Given the description of an element on the screen output the (x, y) to click on. 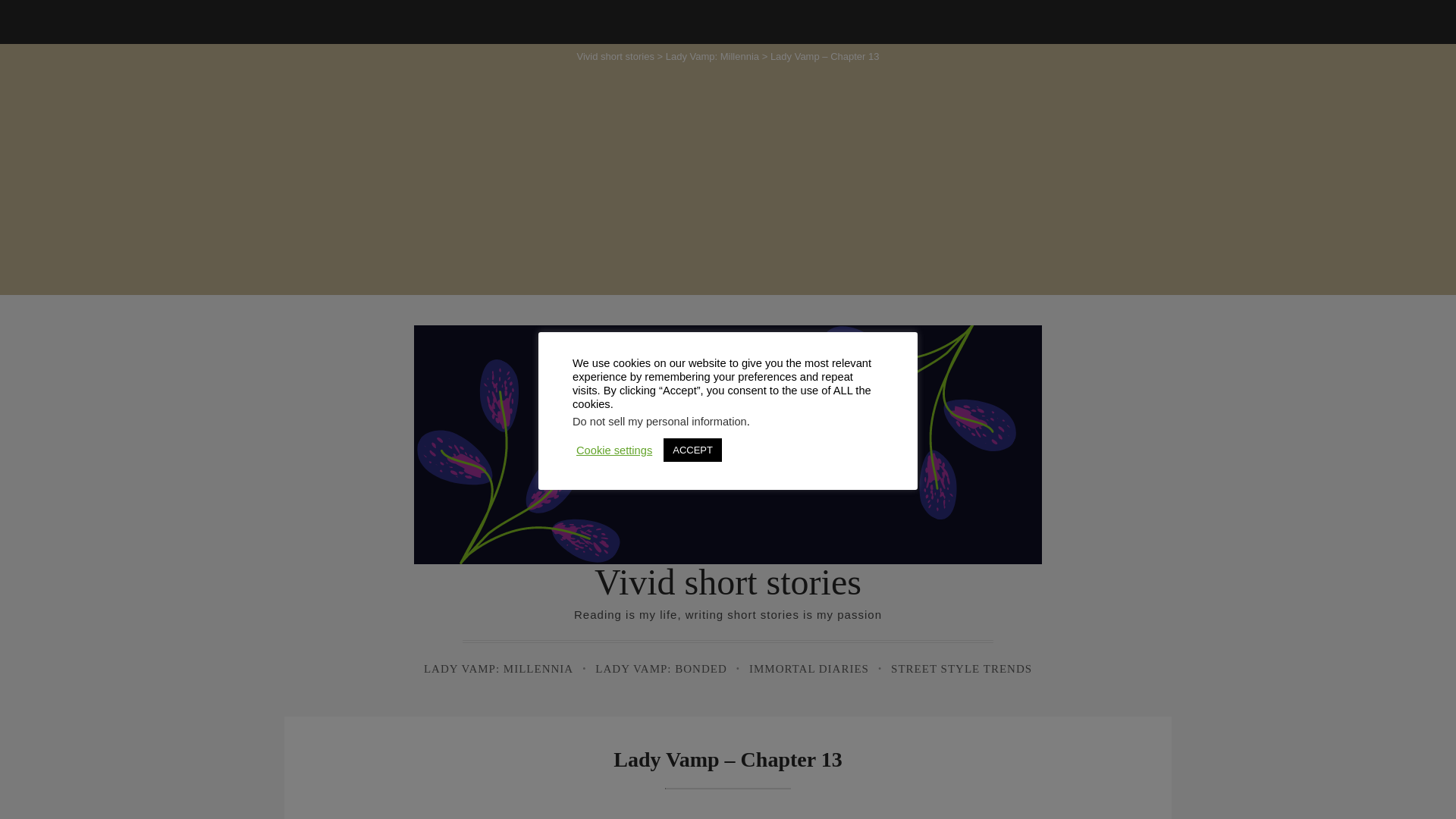
IMMORTAL DIARIES (809, 668)
Cookie settings (614, 449)
Lady Vamp: Millennia (711, 56)
Go to Lady Vamp: Millennia. (711, 56)
LADY VAMP: BONDED (660, 668)
LADY VAMP: MILLENNIA (498, 668)
Vivid short stories (727, 581)
Vivid short stories (614, 56)
ACCEPT (692, 449)
STREET STYLE TRENDS (960, 668)
Go to Vivid short stories. (614, 56)
Do not sell my personal information (659, 421)
